Given the description of an element on the screen output the (x, y) to click on. 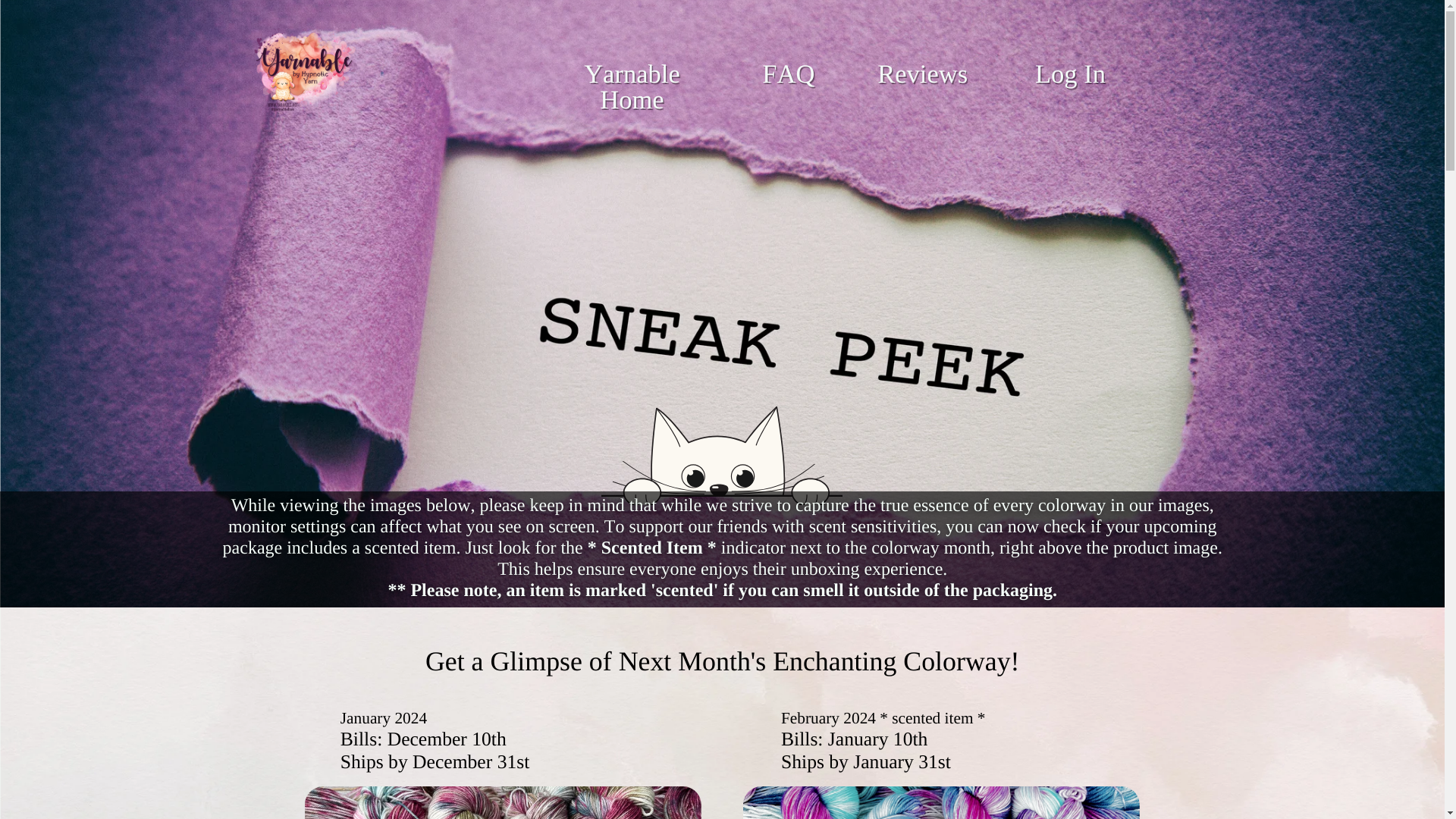
Reviews (922, 73)
Log In (1070, 73)
FAQ (787, 73)
Yarnable Home (631, 86)
